Given the description of an element on the screen output the (x, y) to click on. 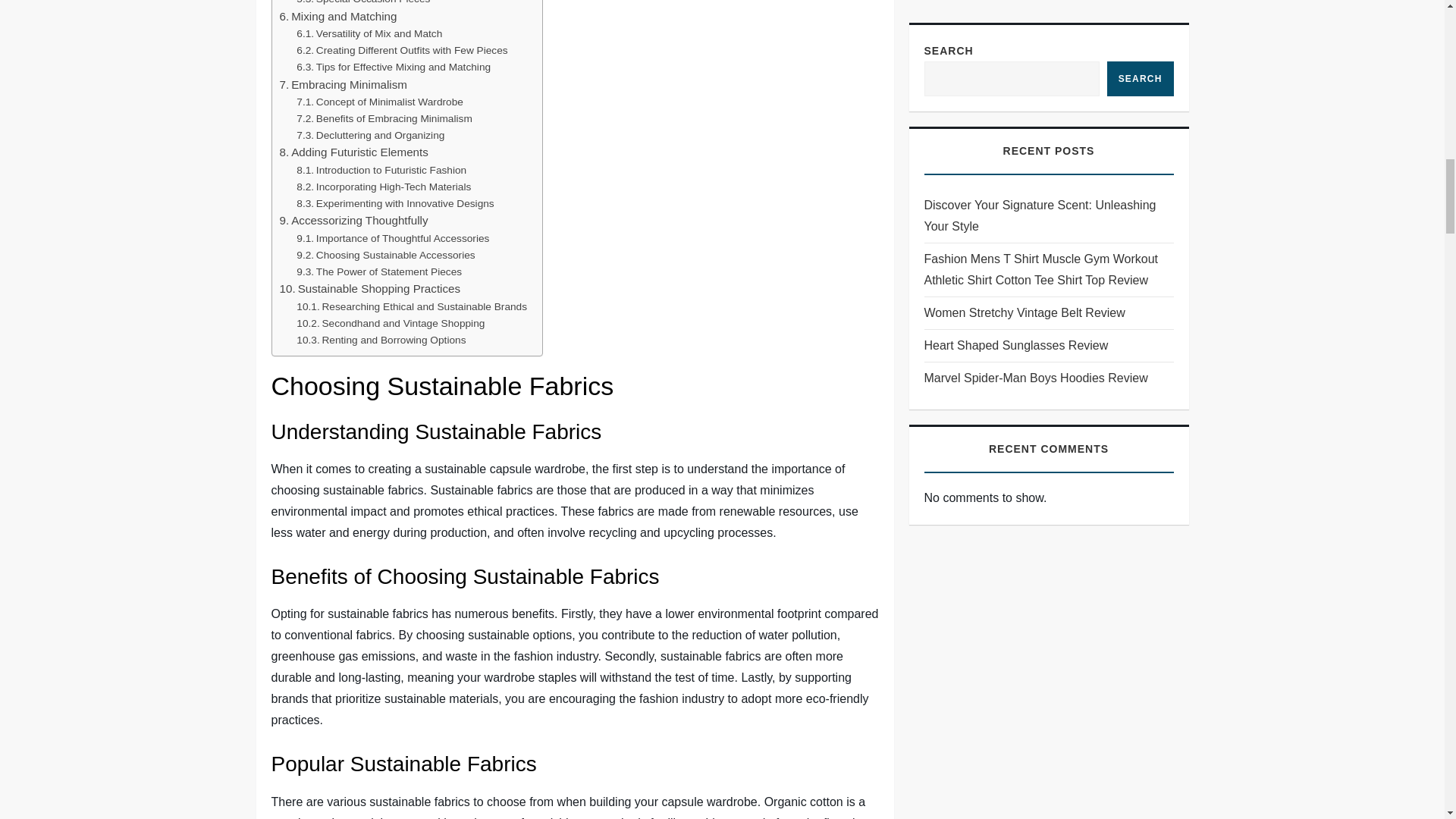
Concept of Minimalist Wardrobe (380, 102)
Tips for Effective Mixing and Matching (393, 67)
Mixing and Matching (337, 16)
Special Occasion Pieces (363, 3)
Embracing Minimalism (342, 85)
Versatility of Mix and Match (369, 33)
Creating Different Outfits with Few Pieces (401, 50)
